Given the description of an element on the screen output the (x, y) to click on. 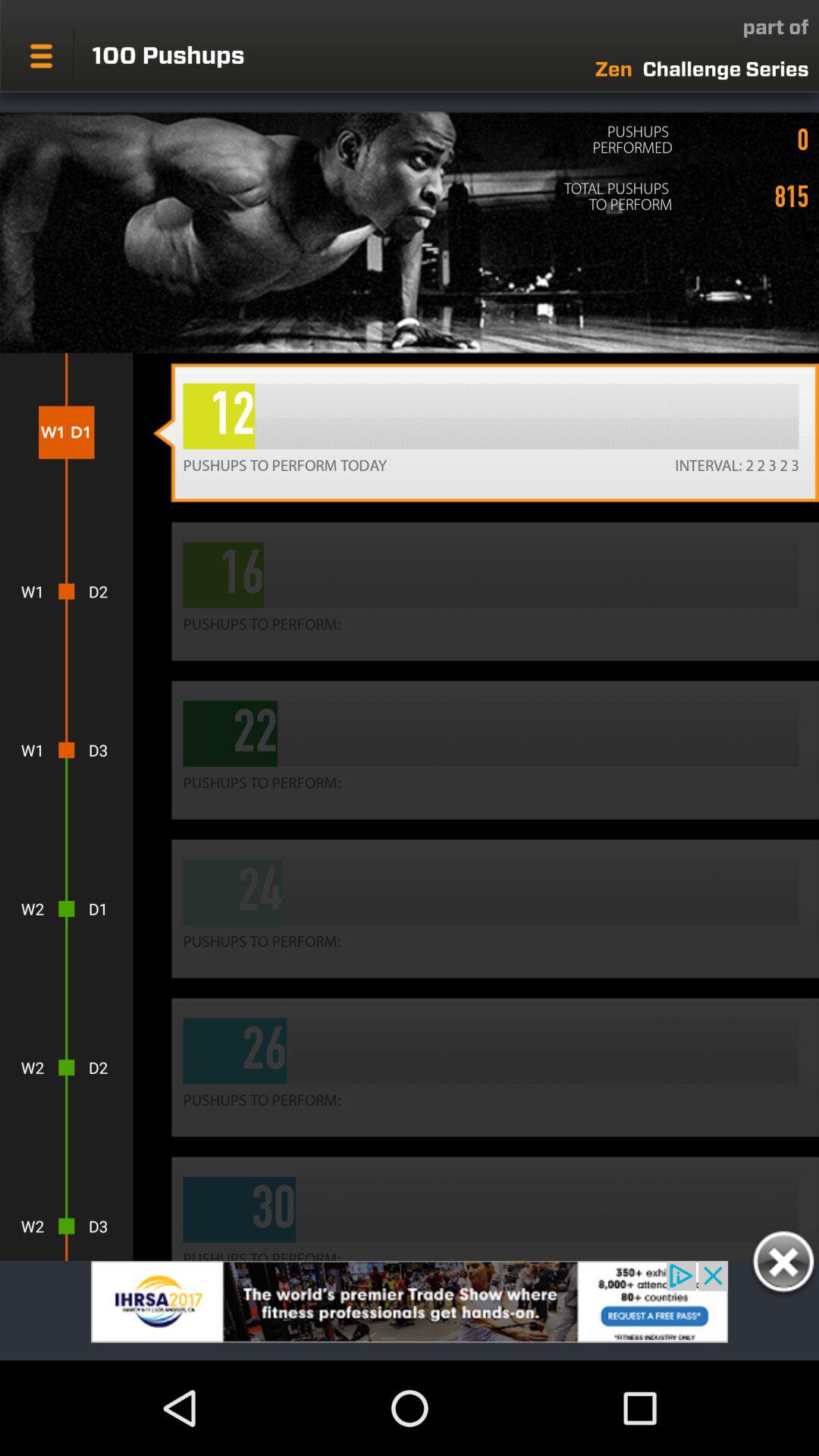
select between w2 and d2 (66, 1067)
select between w1 and d3 (66, 750)
click on the button beside d3 (486, 750)
click on the fourth button below 22 (486, 909)
